Given the description of an element on the screen output the (x, y) to click on. 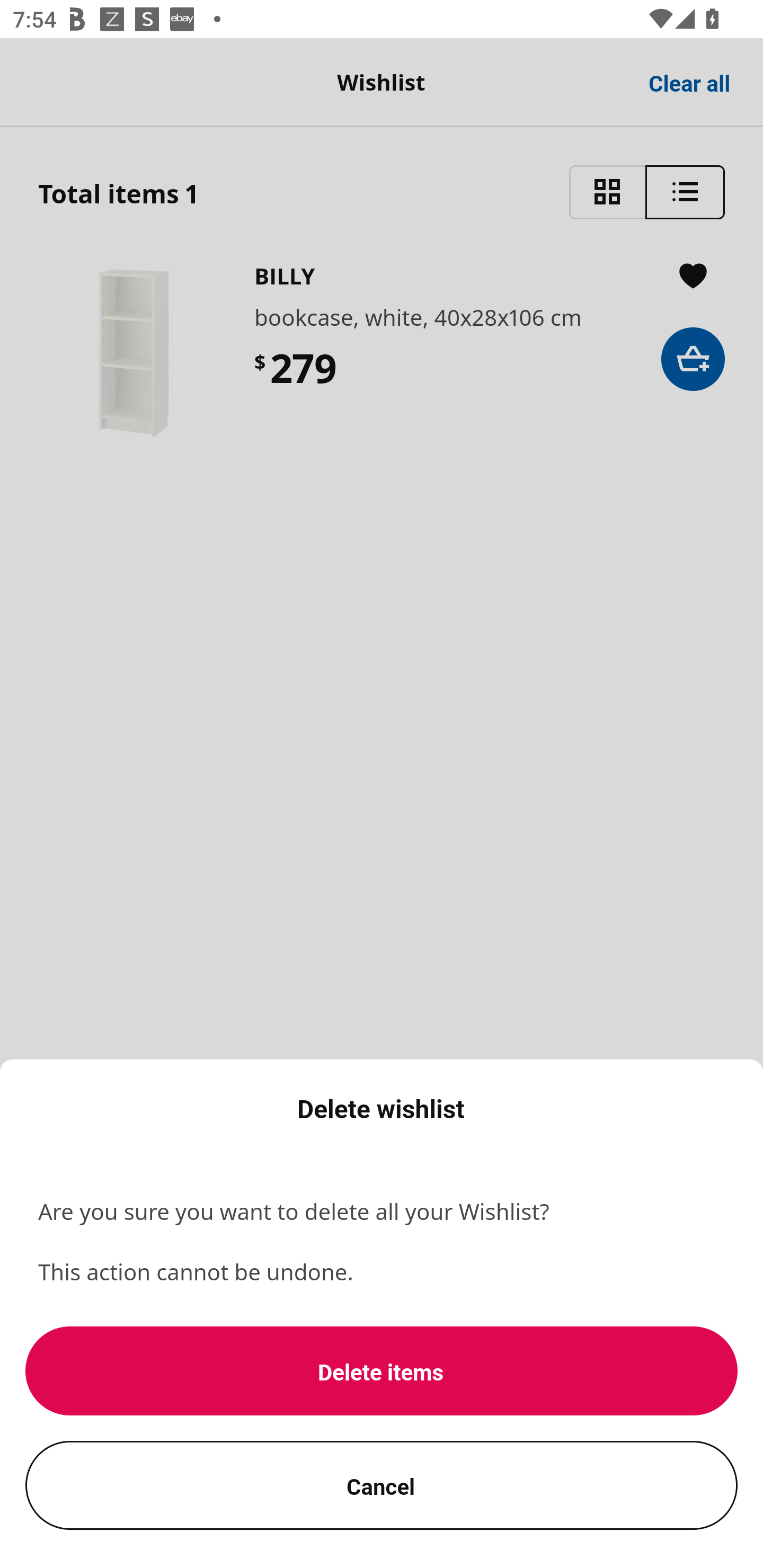
Delete items (381, 1370)
Cancel (381, 1485)
